Given the description of an element on the screen output the (x, y) to click on. 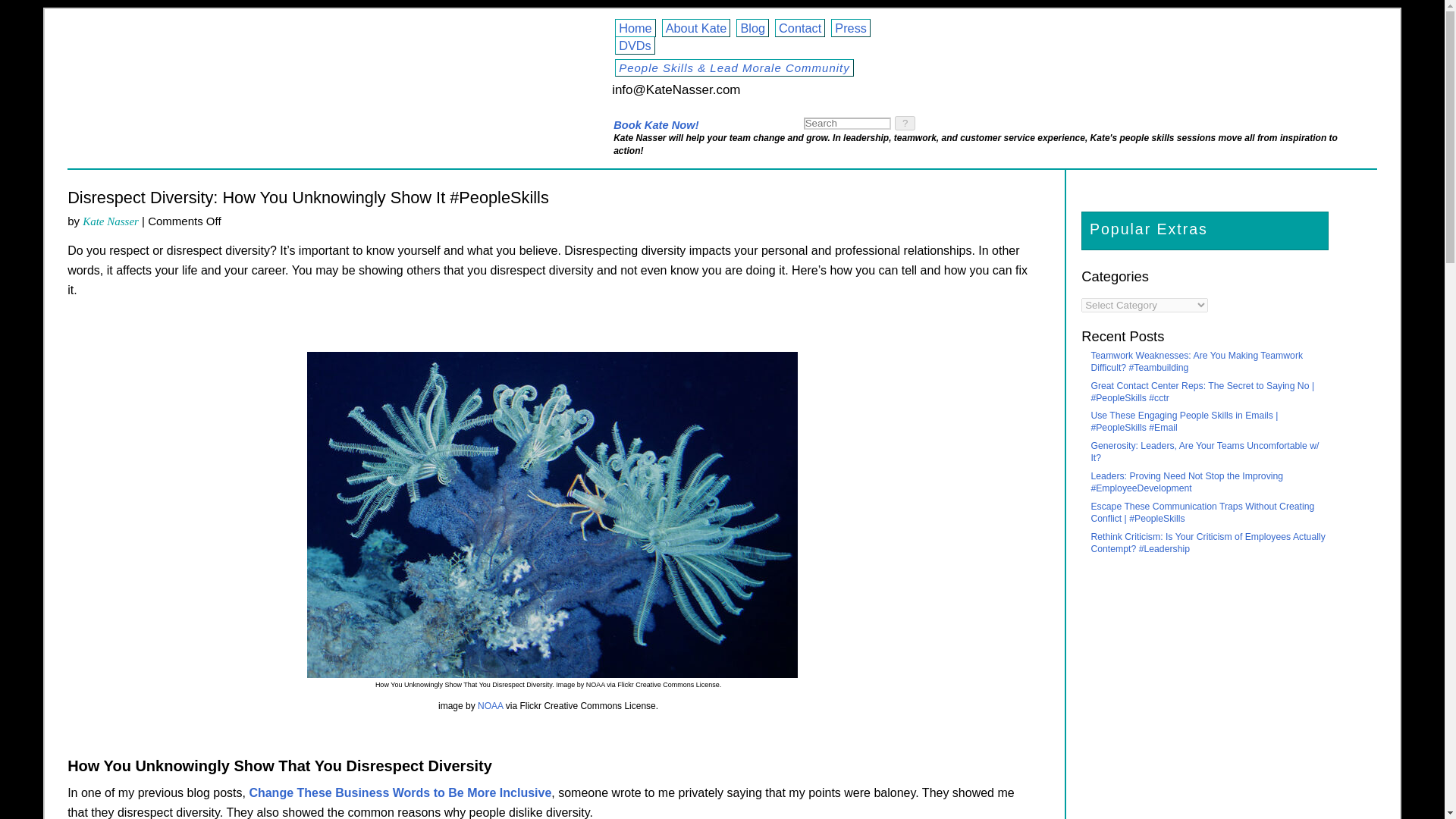
? (905, 123)
Contact (799, 27)
Press (850, 27)
Facebook (656, 117)
Posts by Kate Nasser (110, 221)
Kate Nasser (110, 221)
? (905, 123)
Blog (752, 27)
About Kate (696, 27)
Book Kate Now! (655, 124)
Twitter (687, 117)
Change These Business Words to Be More Inclusive (399, 792)
